Given the description of an element on the screen output the (x, y) to click on. 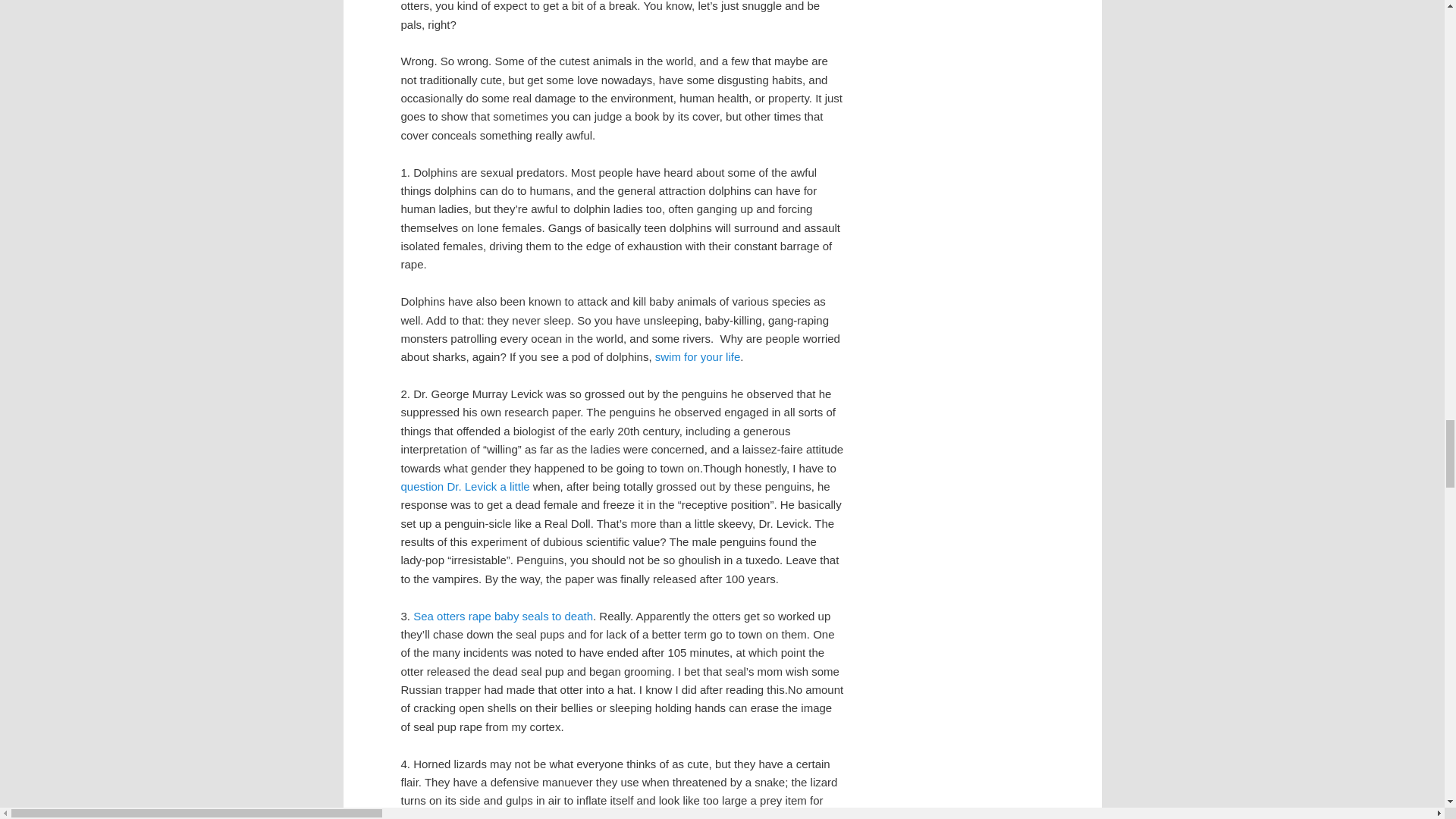
Sea otters rape baby seals to death (502, 615)
question Dr. Levick a little (464, 486)
swim for your life (698, 356)
